Given the description of an element on the screen output the (x, y) to click on. 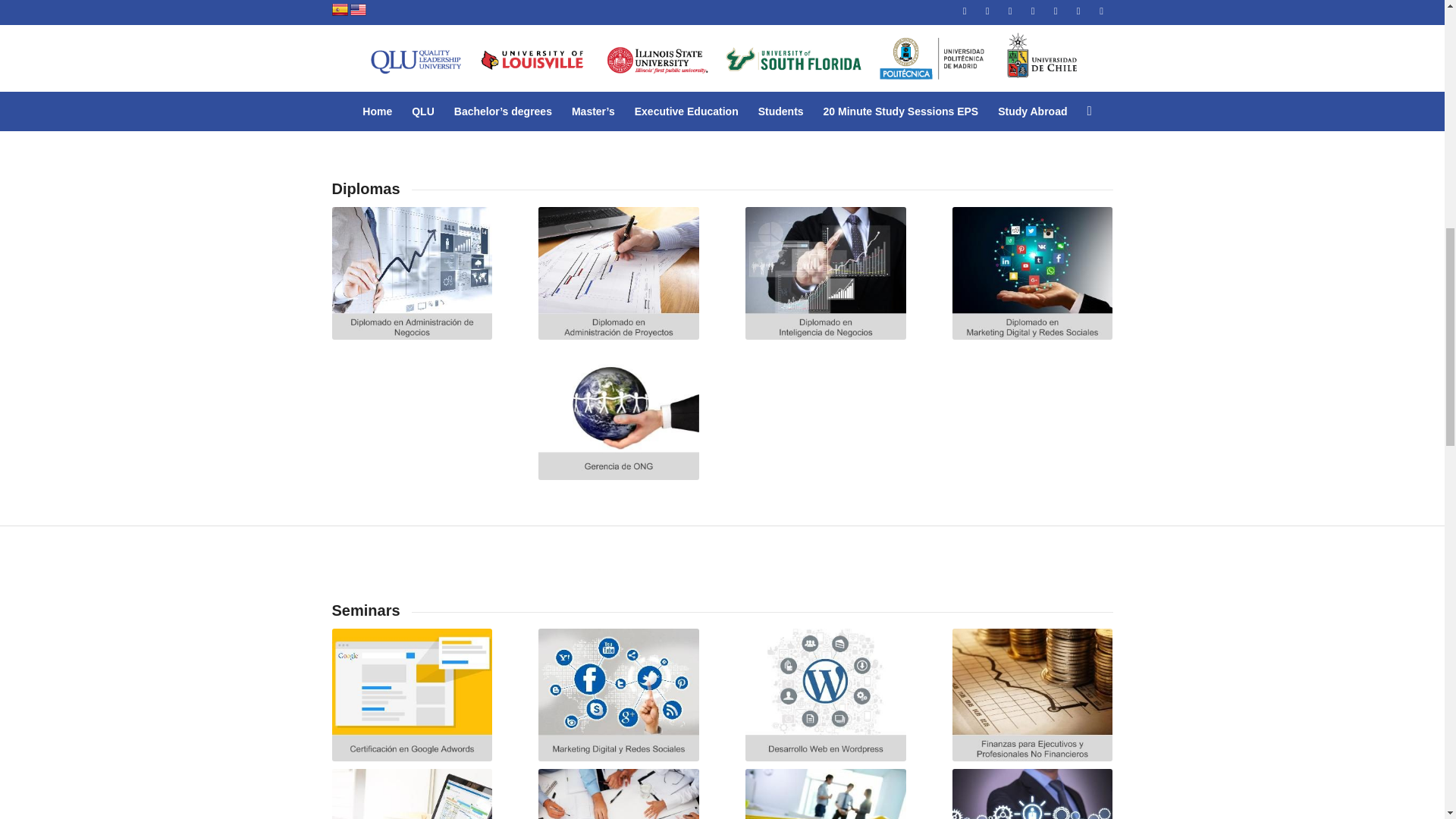
gerencia de ong (618, 413)
marketing y redes sociales (1032, 273)
administracion de proyectos (618, 273)
certificacion en google adwords (411, 694)
marketing digital y redes sociales (618, 694)
administracion de negocios (411, 273)
inteligencia de negocios (825, 273)
